Given the description of an element on the screen output the (x, y) to click on. 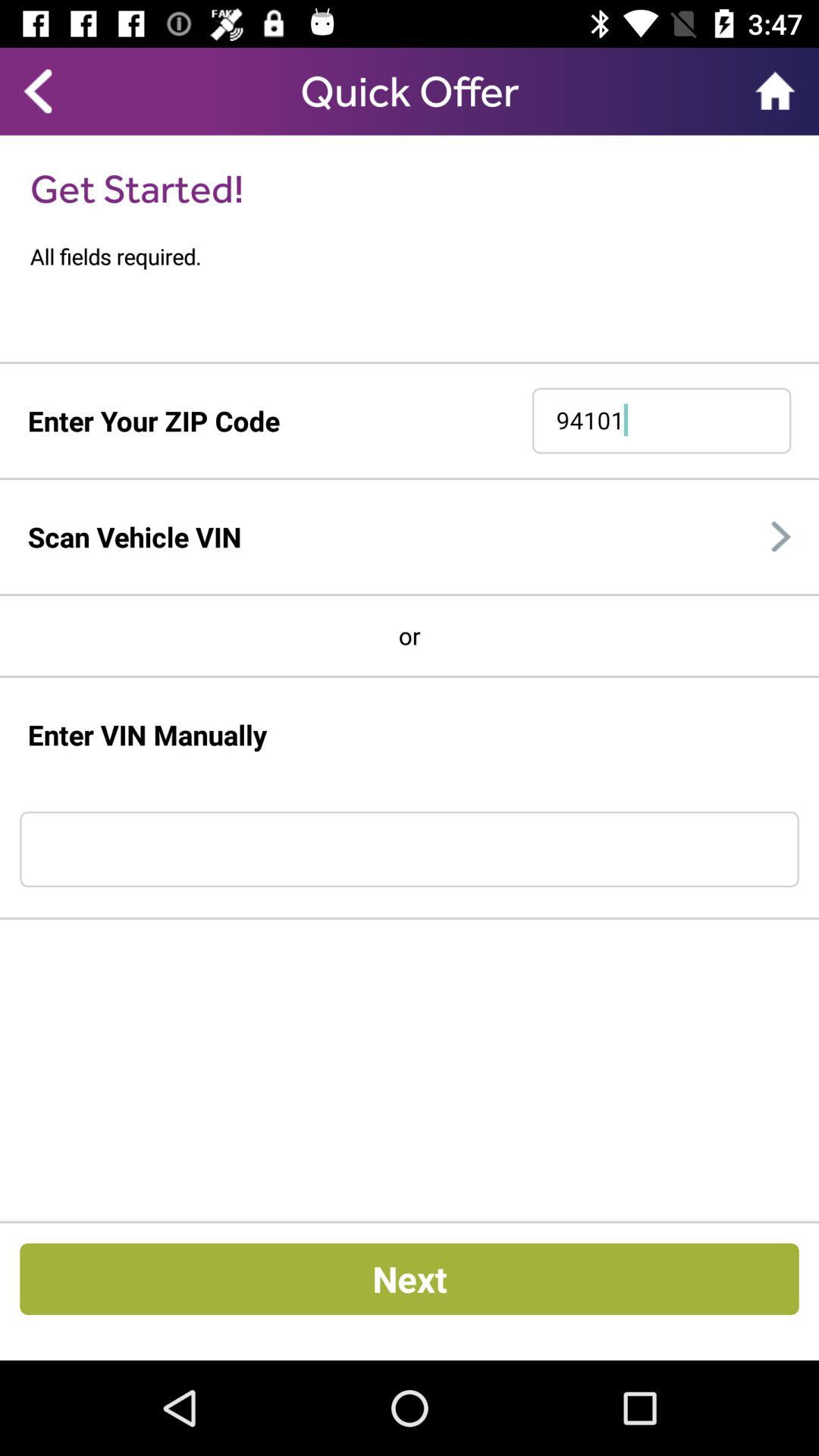
tap or item (409, 635)
